Given the description of an element on the screen output the (x, y) to click on. 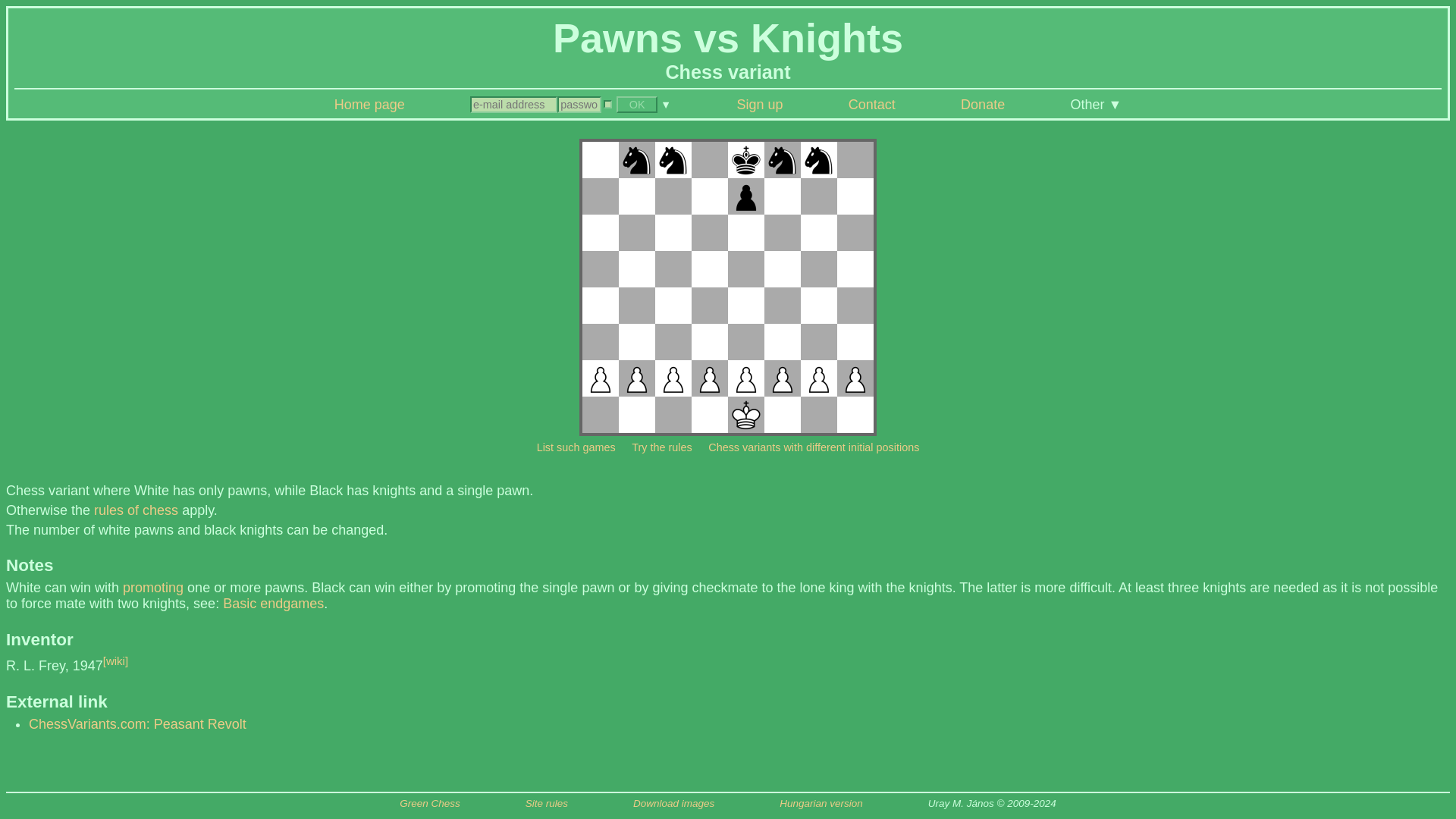
Contact (871, 104)
Chess variants with different initial positions (812, 447)
rules of chess (135, 509)
OK (636, 104)
Sign up (759, 104)
promoting (152, 587)
Basic endgames (272, 603)
Donate (982, 104)
Try the rules (661, 447)
ChessVariants.com: Peasant Revolt (137, 724)
on (607, 103)
List such games (576, 447)
Home page (369, 104)
